Given the description of an element on the screen output the (x, y) to click on. 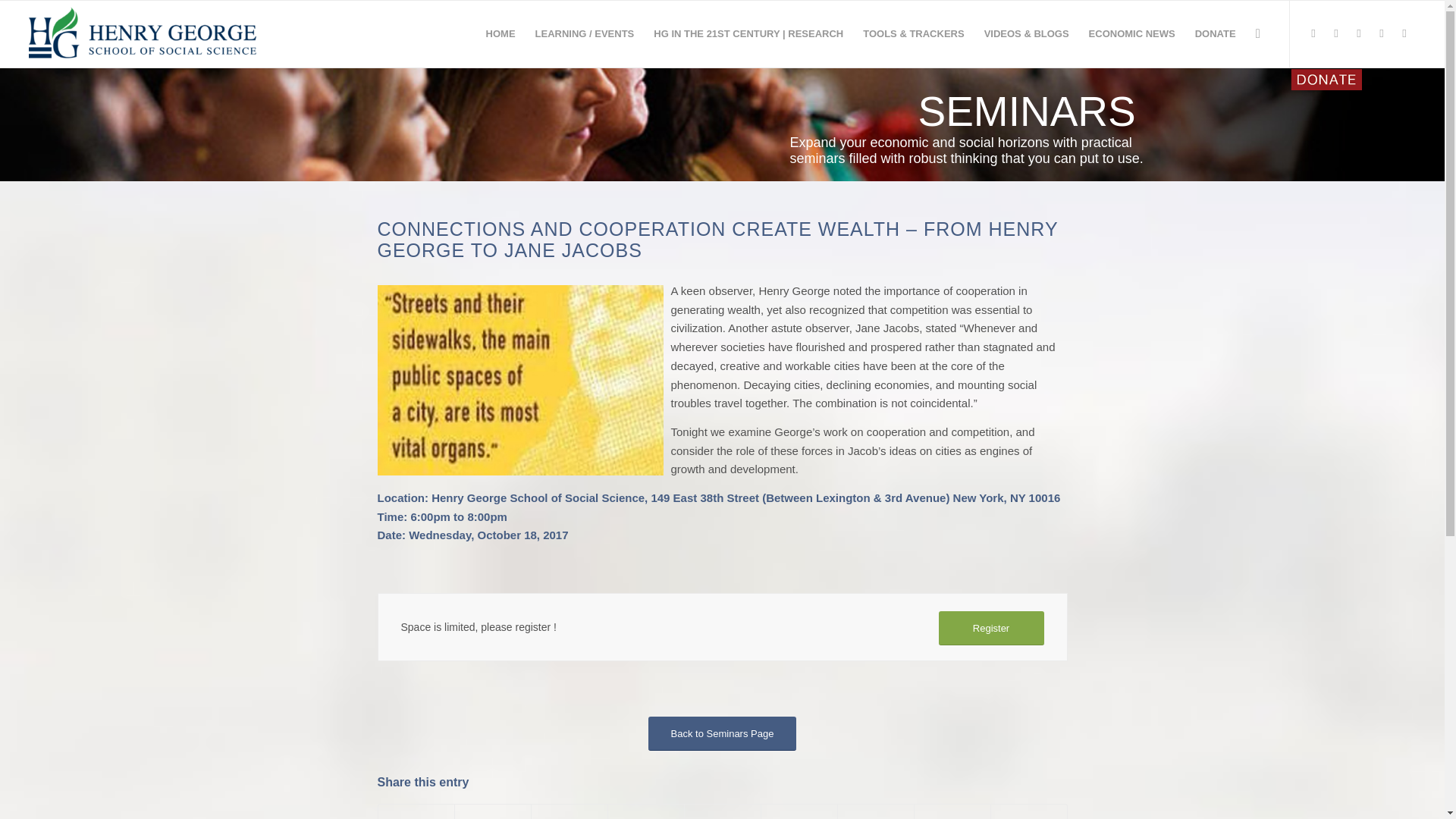
LinkedIn (1404, 33)
Twitter (1312, 33)
ECONOMIC NEWS (1131, 33)
Youtube (1381, 33)
Instagram (1359, 33)
Facebook (1336, 33)
